Given the description of an element on the screen output the (x, y) to click on. 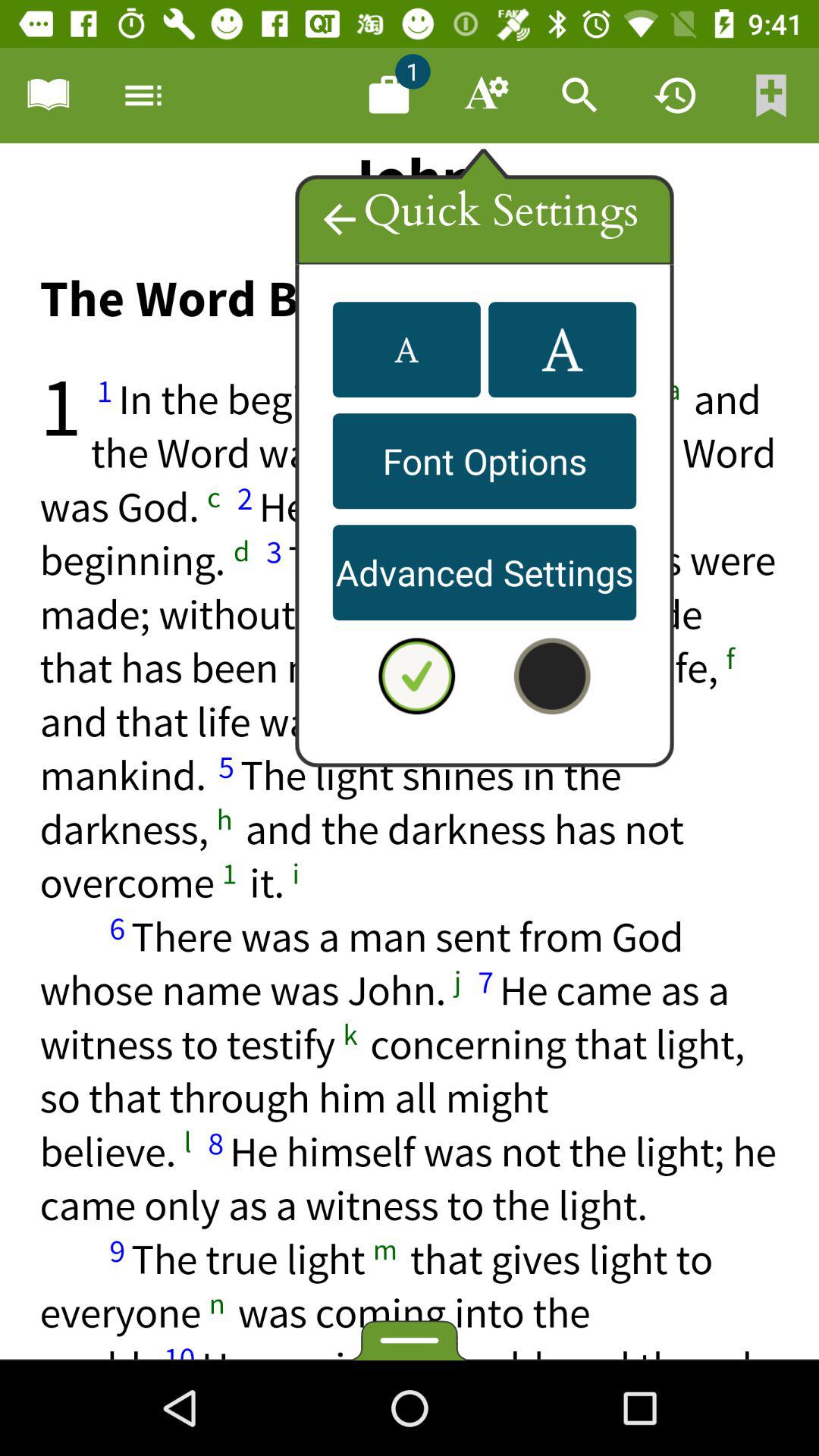
reload (675, 95)
